Given the description of an element on the screen output the (x, y) to click on. 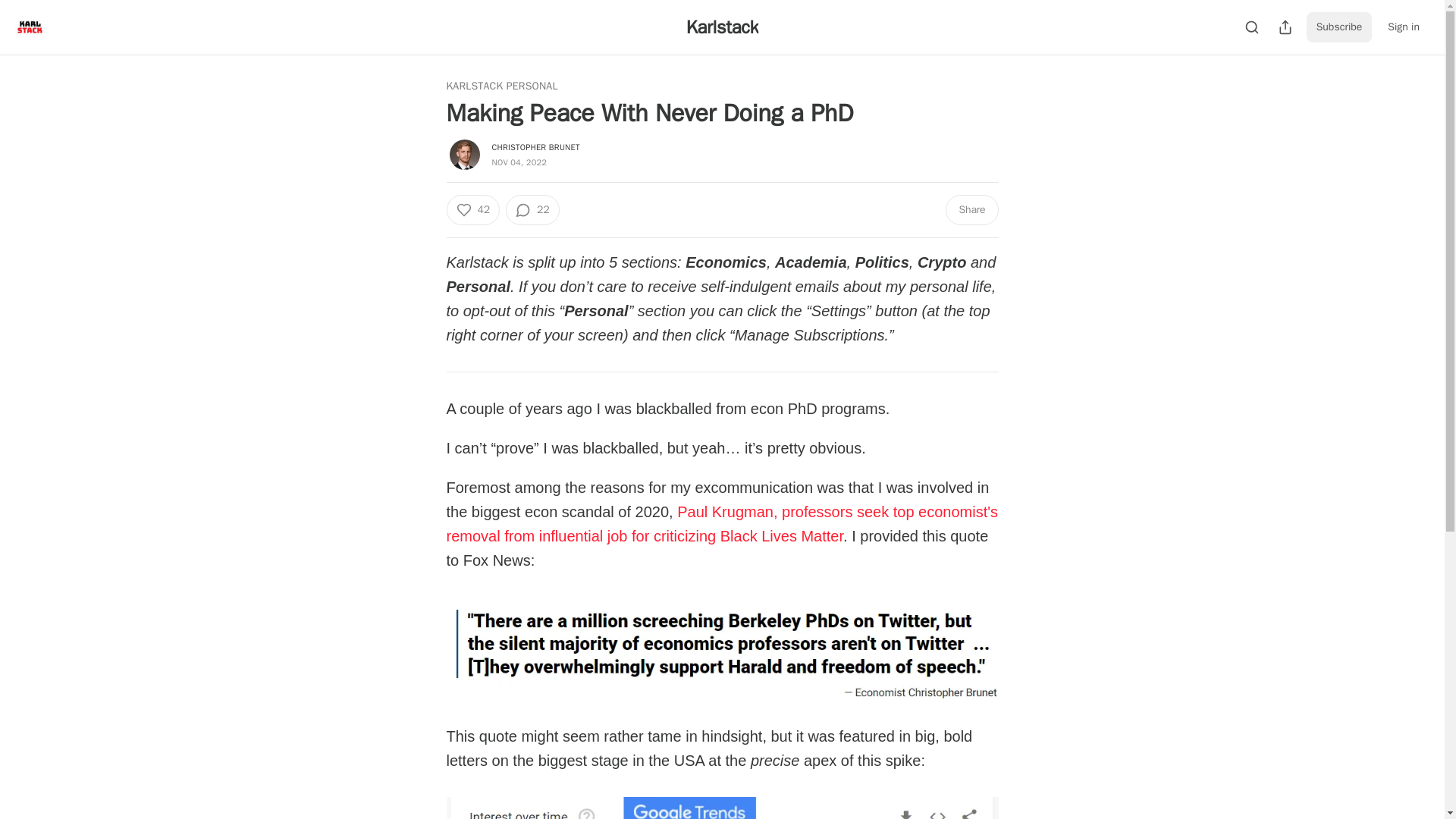
Karlstack (721, 26)
CHRISTOPHER BRUNET (535, 146)
Subscribe (1339, 27)
Share (970, 209)
Sign in (1403, 27)
42 (472, 209)
KARLSTACK PERSONAL (501, 86)
22 (532, 209)
